Given the description of an element on the screen output the (x, y) to click on. 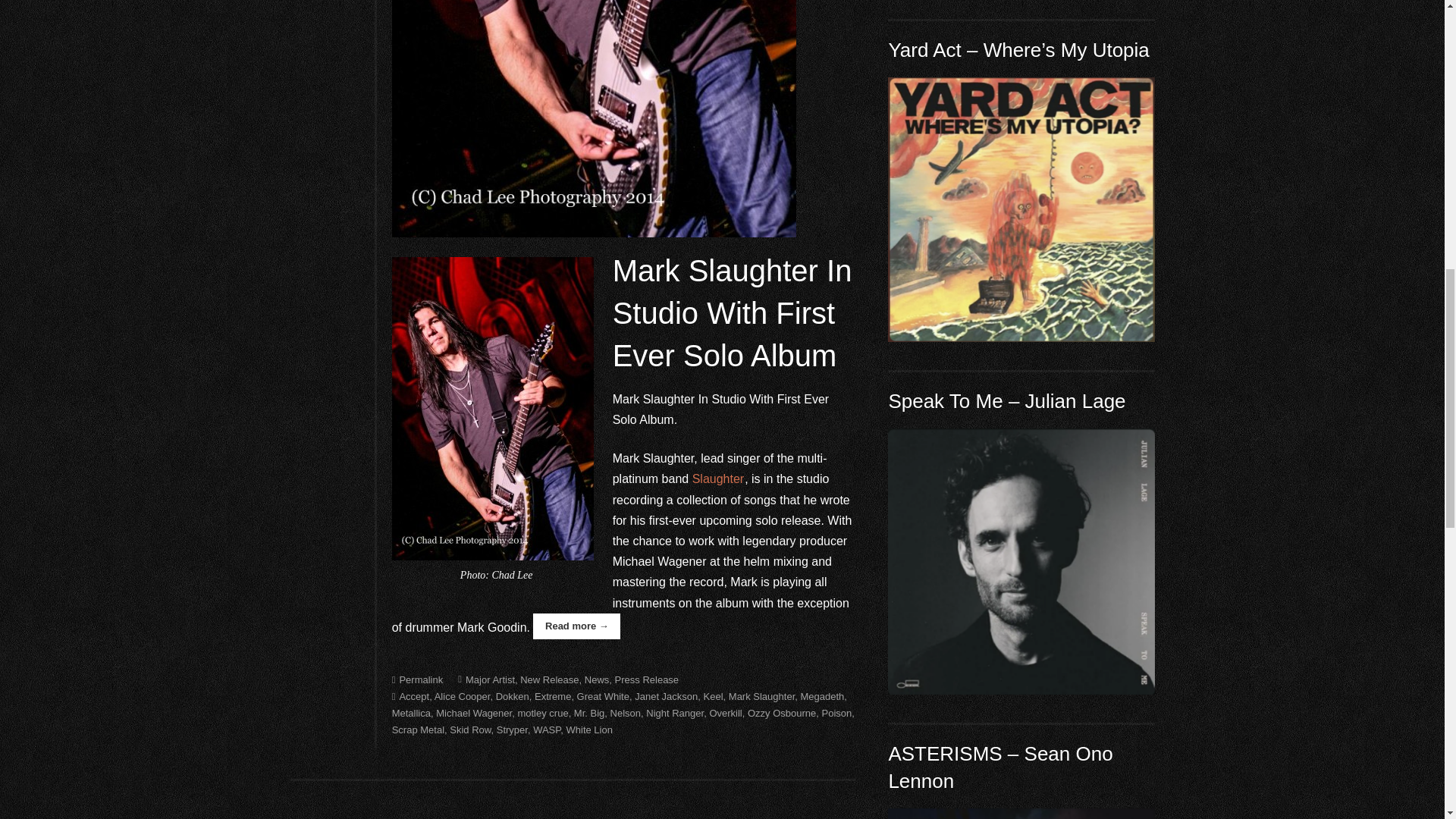
Accept (410, 696)
Slaughter (718, 478)
Permalink (417, 678)
Great White (602, 696)
NEW RELEASES (1021, 208)
Alice Cooper (461, 696)
Extreme (552, 696)
Janet Jackson (665, 696)
News (597, 678)
Press Release (646, 678)
New Release (548, 678)
Dokken (512, 696)
Keel (713, 696)
Major Artist (486, 678)
